Given the description of an element on the screen output the (x, y) to click on. 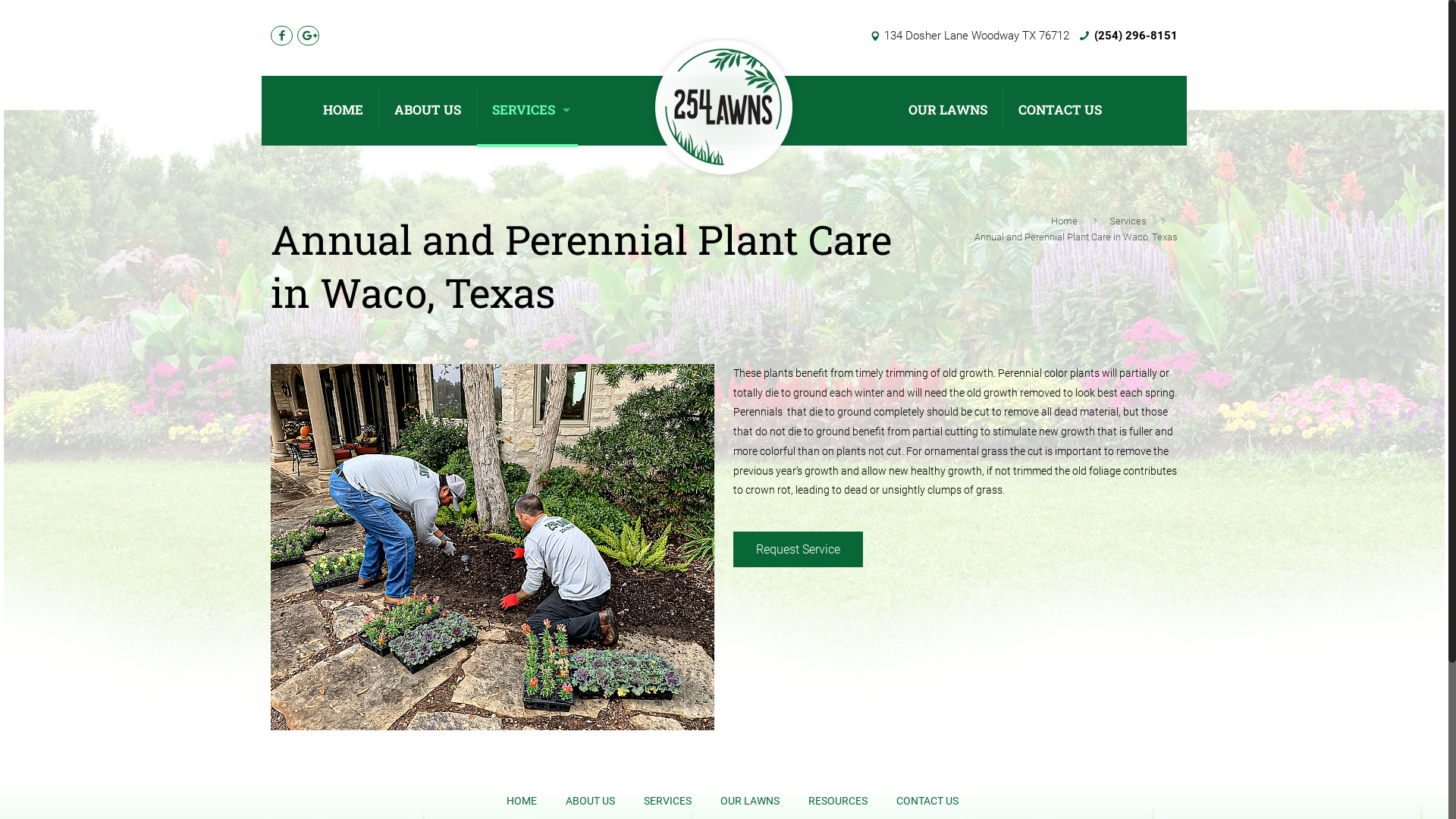
SERVICES Element type: text (666, 801)
Request Service Element type: text (797, 549)
OUR LAWNS Element type: text (748, 801)
(254) 296-8151 Element type: text (1135, 35)
Home Element type: text (1064, 220)
HOME Element type: text (343, 109)
SERVICES Element type: text (526, 109)
ABOUT US Element type: text (427, 109)
Facebook Element type: hover (281, 35)
254 Lawns Element type: hover (724, 109)
ABOUT US Element type: text (589, 801)
OUR LAWNS Element type: text (948, 109)
Services Element type: text (1127, 220)
Google+ Element type: hover (308, 35)
CONTACT US Element type: text (1060, 109)
HOME Element type: text (520, 801)
CONTACT US Element type: text (926, 801)
RESOURCES Element type: text (836, 801)
